Given the description of an element on the screen output the (x, y) to click on. 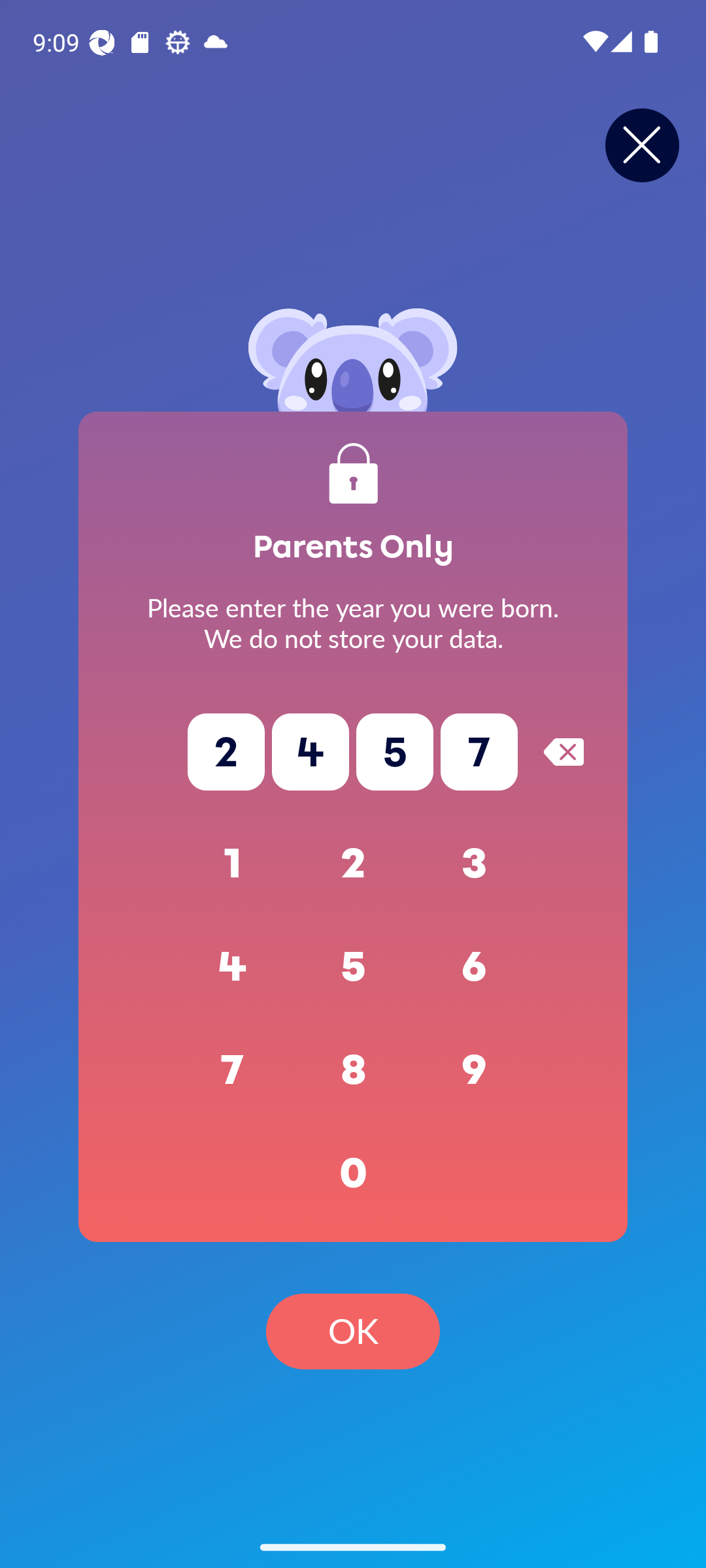
Delete (563, 751)
1 (232, 863)
2 (353, 863)
3 (474, 863)
4 (232, 966)
5 (353, 966)
6 (474, 966)
7 (232, 1069)
8 (353, 1069)
9 (474, 1069)
0 (353, 1173)
OK (352, 1331)
